Given the description of an element on the screen output the (x, y) to click on. 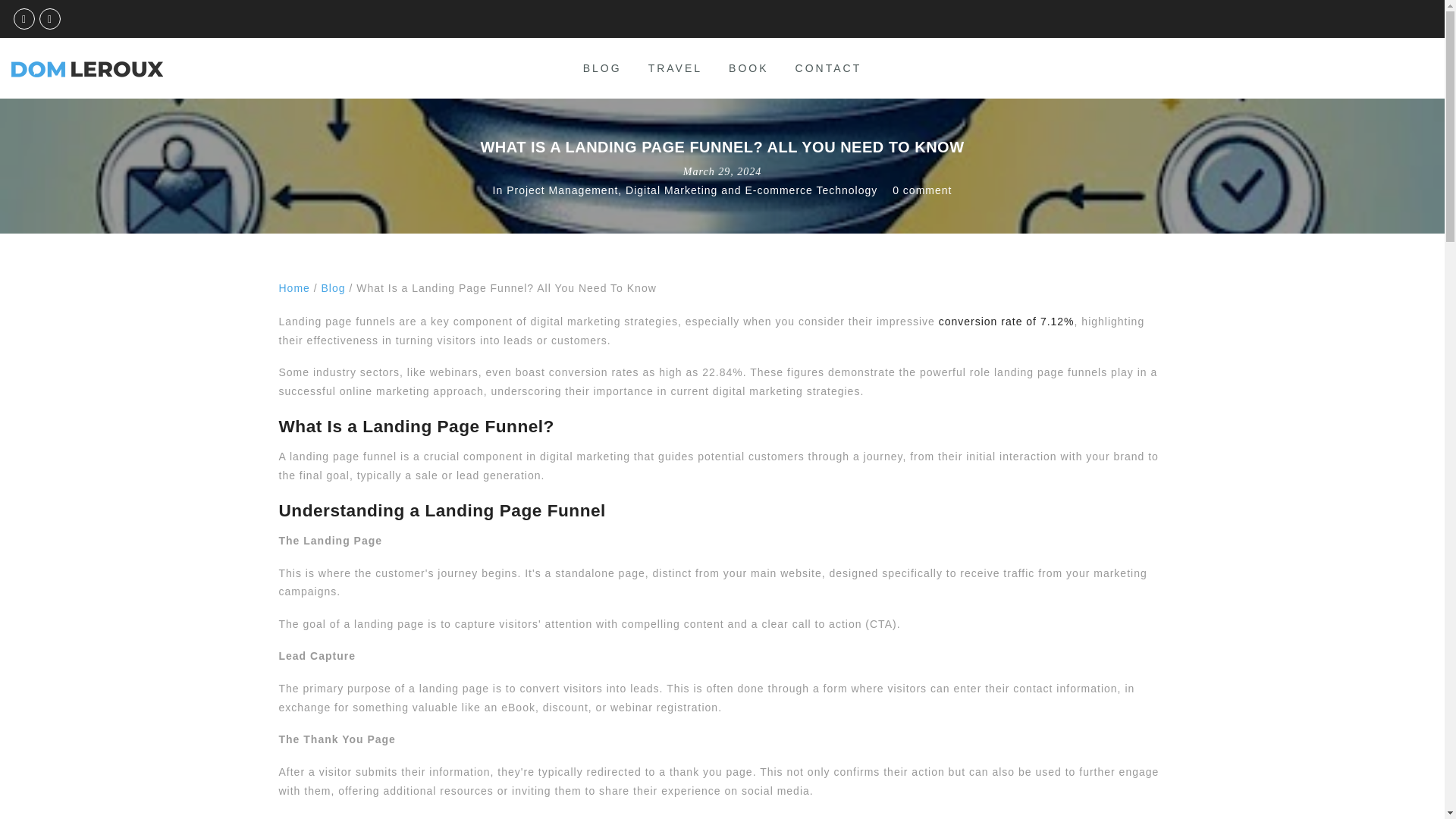
0 comment (922, 190)
BLOG (602, 68)
Blog (333, 287)
BOOK (748, 68)
CONTACT (827, 68)
TRAVEL (674, 68)
Home (294, 287)
